Given the description of an element on the screen output the (x, y) to click on. 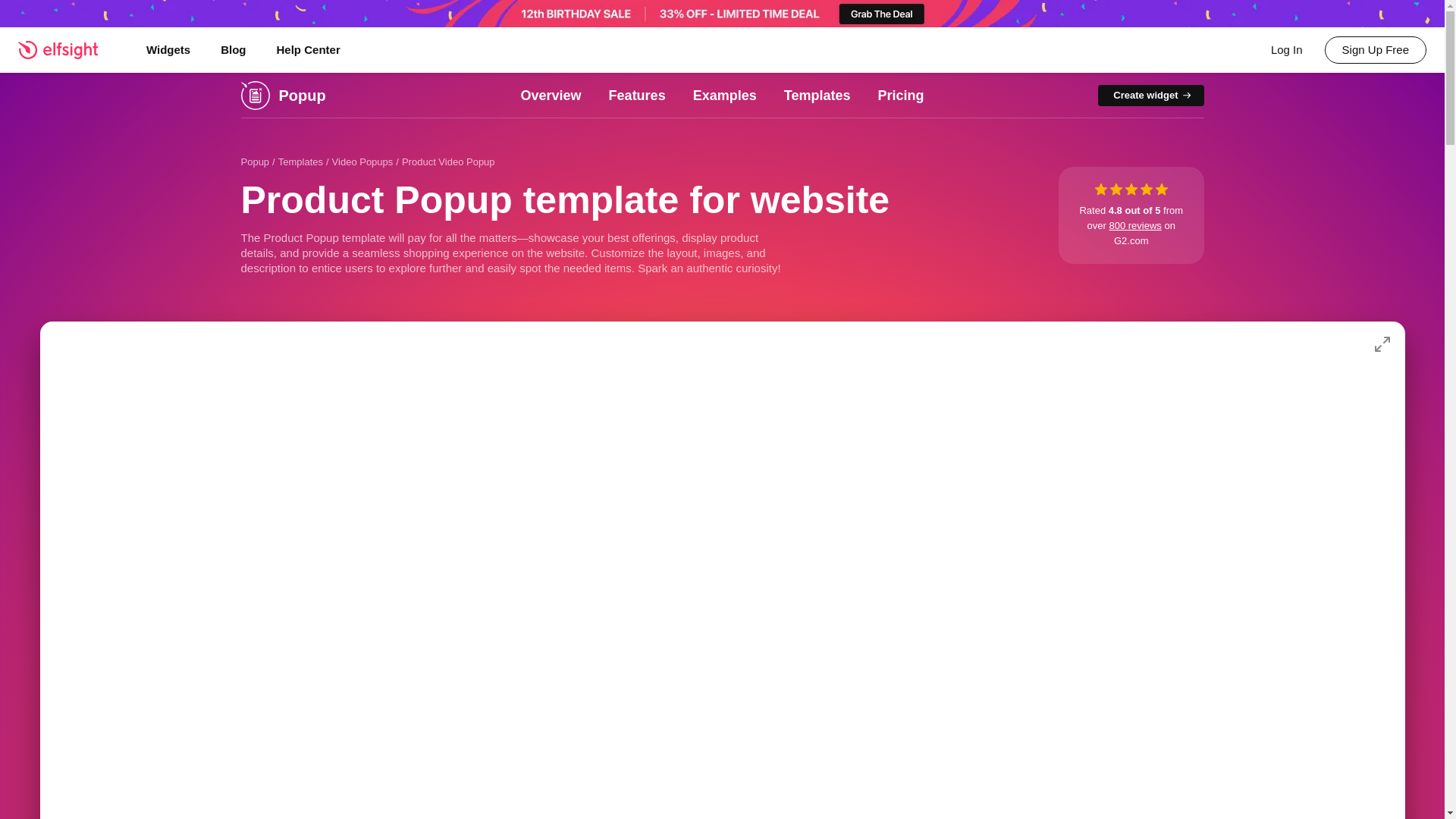
Widgets (168, 49)
Full Screen (1381, 343)
Elfsight - Premium Plugins For Websites (66, 49)
